Given the description of an element on the screen output the (x, y) to click on. 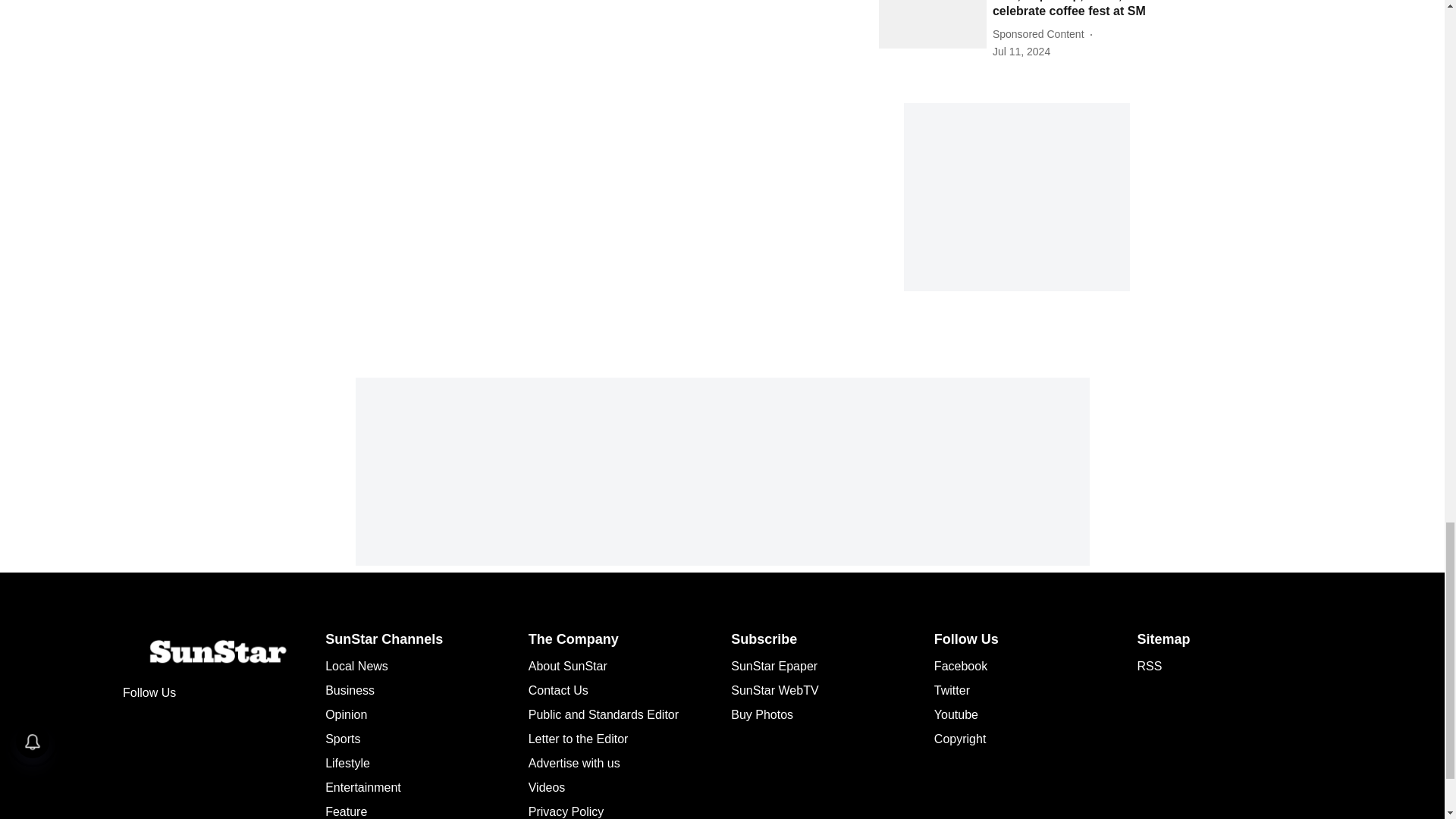
2024-07-11 00:59 (1020, 51)
